Given the description of an element on the screen output the (x, y) to click on. 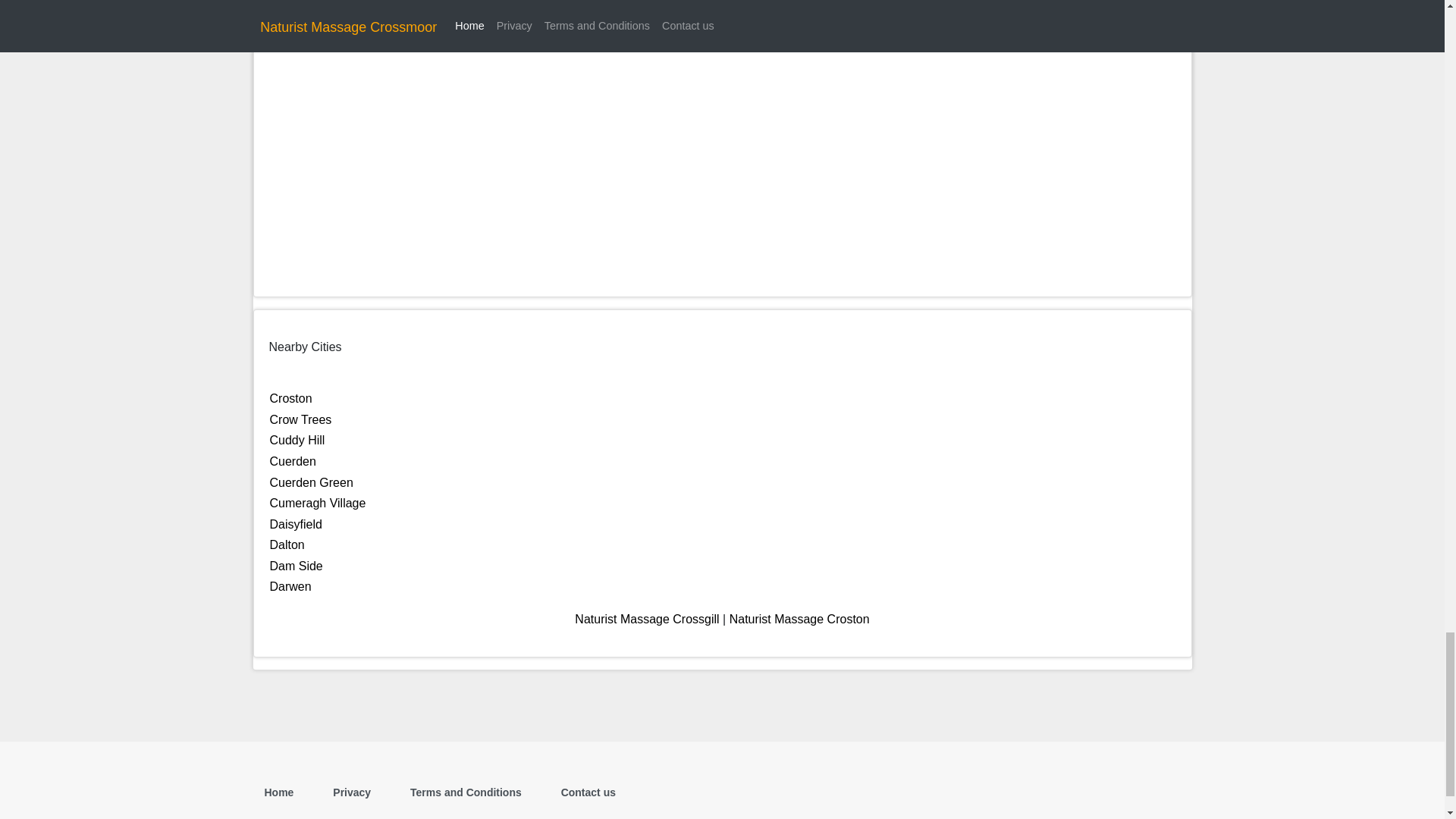
Cuddy Hill (296, 440)
Cumeragh Village (317, 502)
Cuerden (292, 461)
Crow Trees (300, 419)
Naturist Massage Croston (799, 618)
Darwen (290, 585)
Croston (291, 398)
Dam Side (296, 565)
Dalton (286, 544)
Cuerden Green (311, 481)
Daisyfield (295, 523)
Naturist Massage Crossgill (647, 618)
